Given the description of an element on the screen output the (x, y) to click on. 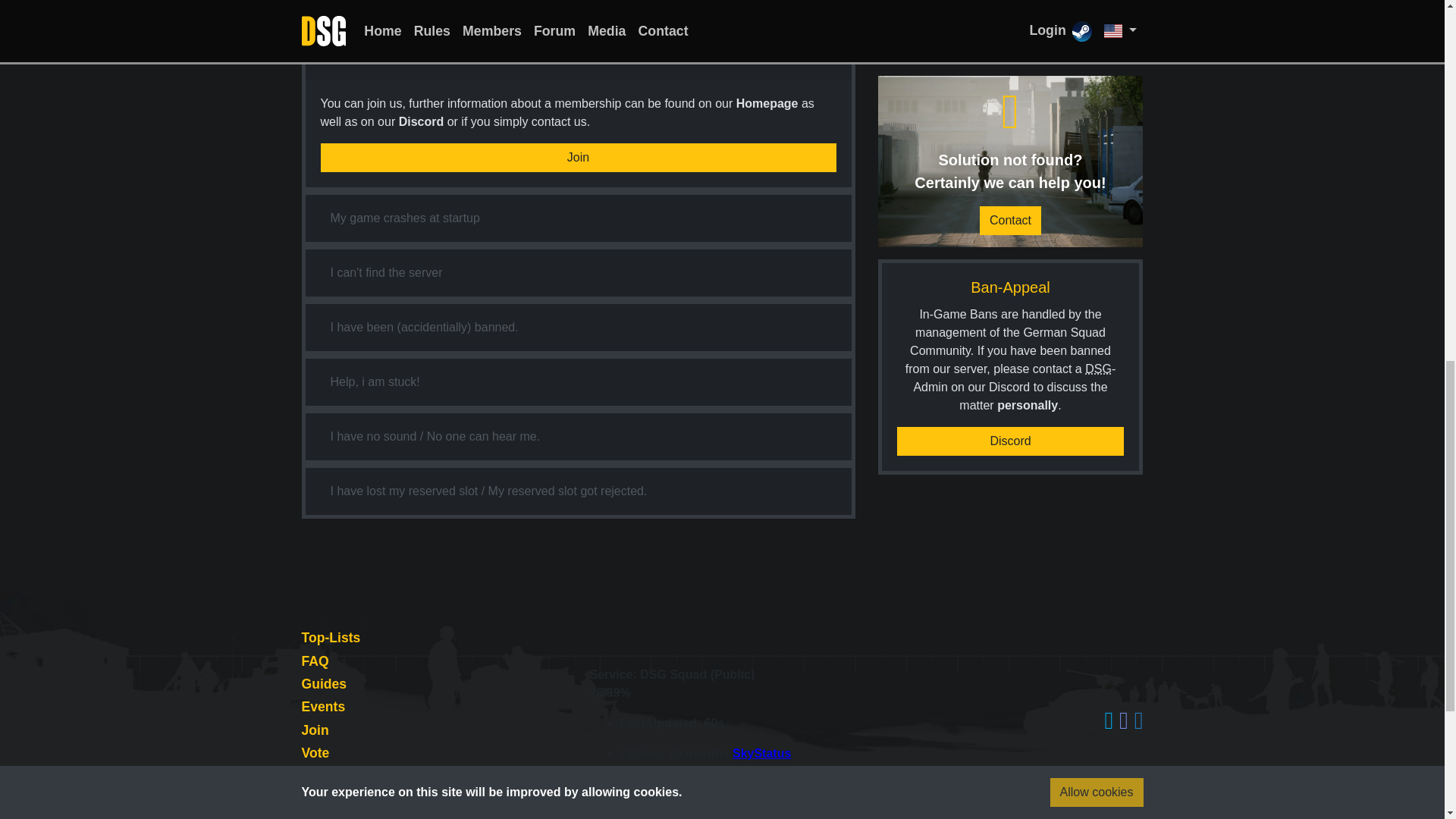
Events (323, 706)
Discord (1010, 56)
Can i join you? (370, 55)
Guides (324, 683)
Servers (325, 776)
Help, i am stuck! (374, 381)
FAQ (315, 661)
Join (315, 729)
Top-Lists (331, 637)
I can't find the server (385, 272)
My game crashes at startup (404, 217)
Imprint (324, 798)
Join (577, 157)
Vote (315, 752)
